Given the description of an element on the screen output the (x, y) to click on. 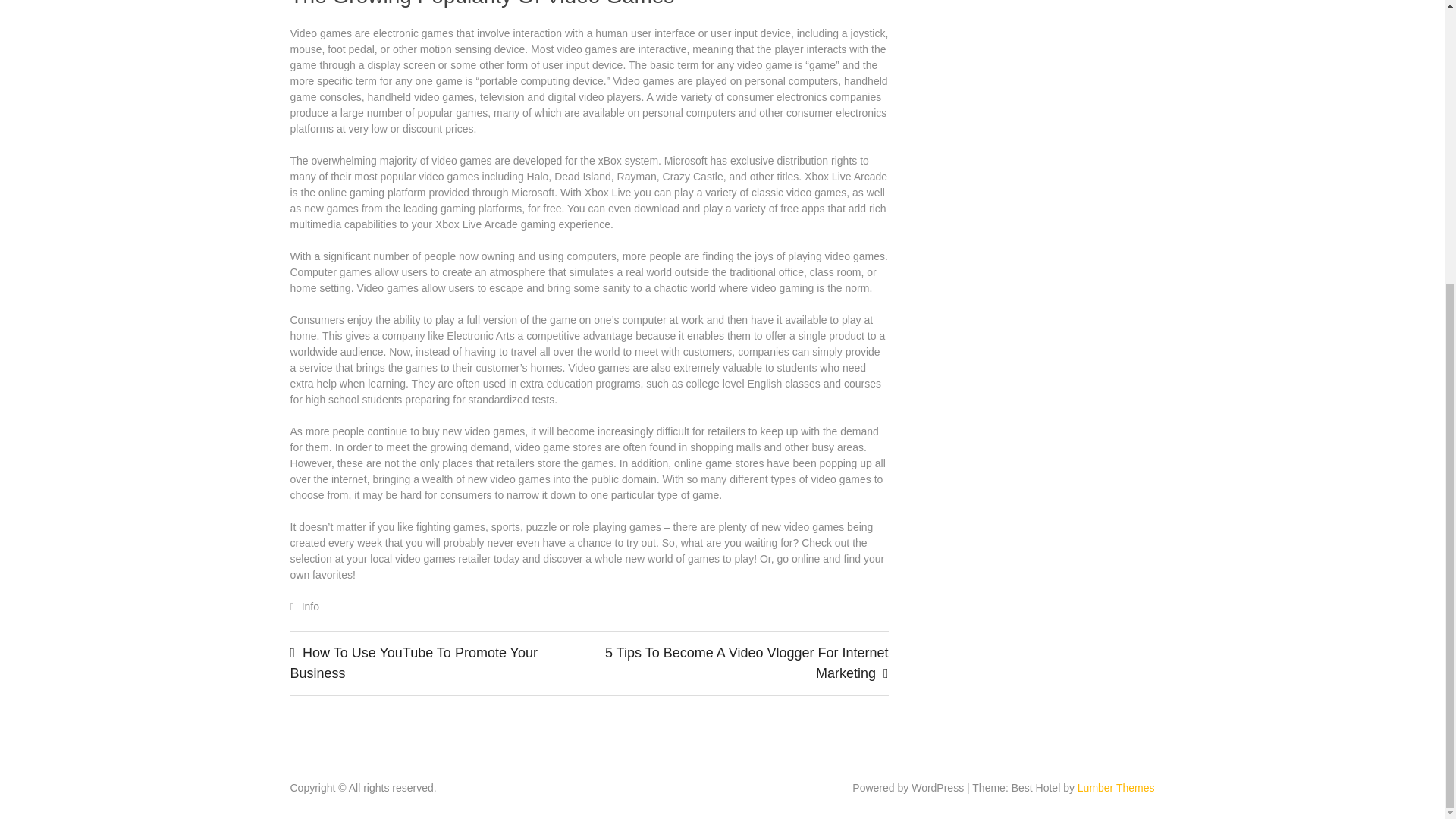
Lumber Themes (1115, 787)
How To Use YouTube To Promote Your Business (413, 662)
5 Tips To Become A Video Vlogger For Internet Marketing (746, 662)
Info (309, 606)
